Given the description of an element on the screen output the (x, y) to click on. 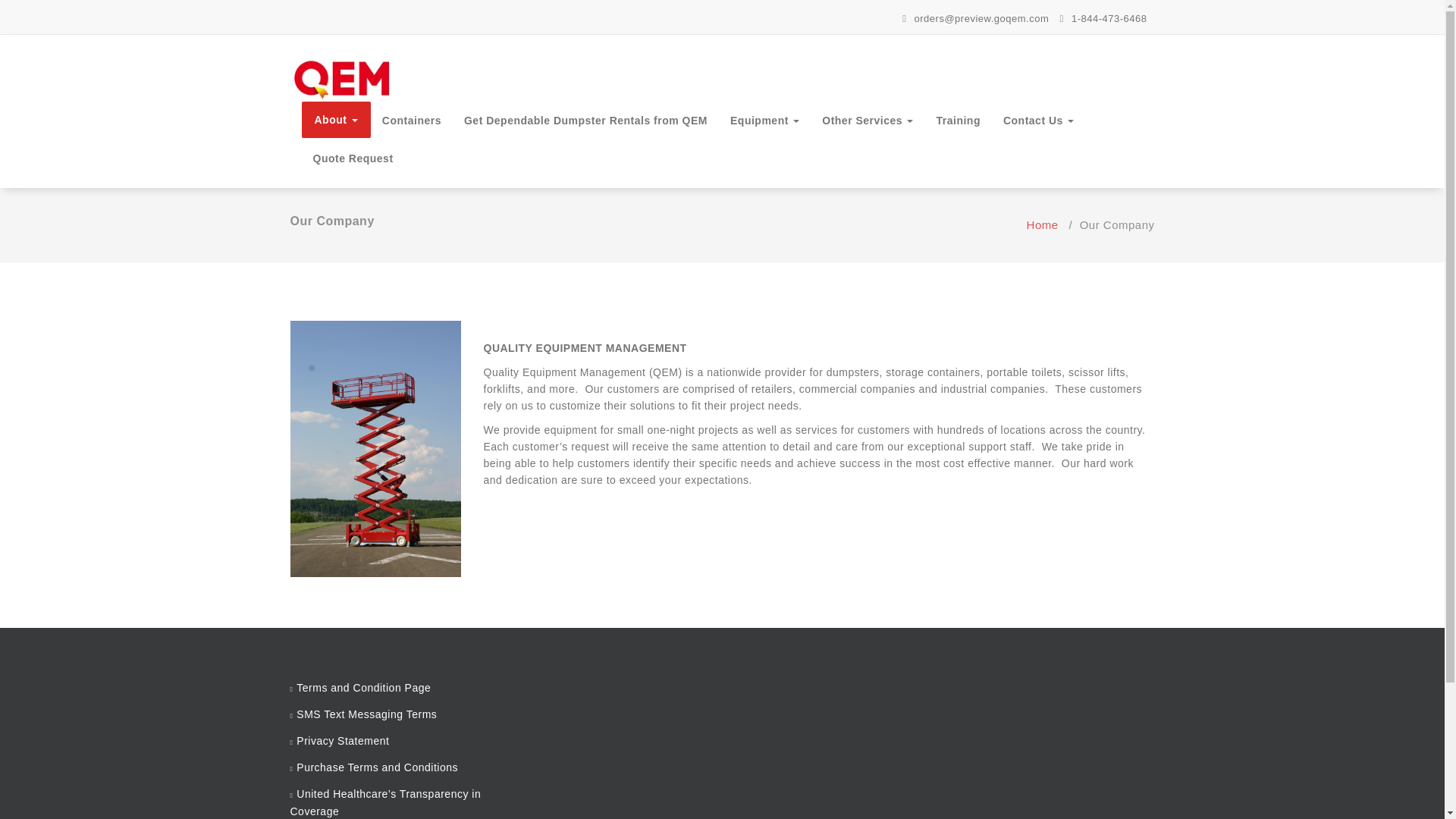
Equipment (764, 120)
SMS Text Messaging Terms (366, 714)
Containers (411, 120)
Home (1042, 224)
Quote Request (352, 158)
Get Dependable Dumpster Rentals from QEM (585, 120)
1-844-473-6468 (1103, 18)
Other Services (867, 120)
About (336, 119)
Training (957, 120)
Terms and Condition Page (363, 687)
Privacy Statement (342, 740)
Contact Us (1037, 120)
Purchase Terms and Conditions (377, 767)
